Given the description of an element on the screen output the (x, y) to click on. 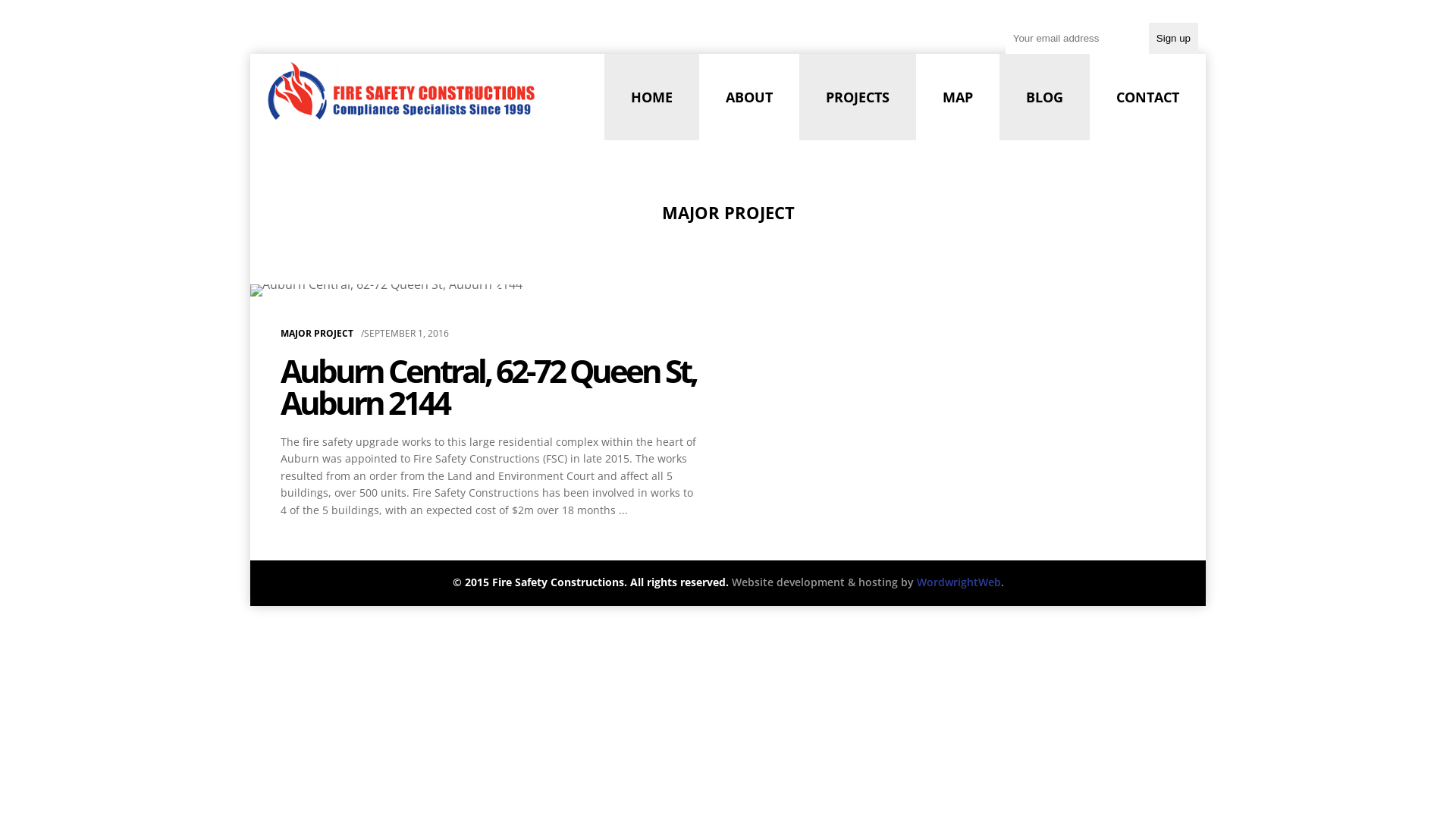
Auburn Central, 62-72 Queen St, Auburn 2144 Element type: text (488, 385)
HOME Element type: text (651, 96)
Sign up Element type: text (1173, 37)
PROJECTS Element type: text (857, 96)
CONTACT Element type: text (1147, 96)
MAP Element type: text (957, 96)
WordwrightWeb Element type: text (958, 581)
MAJOR PROJECT Element type: text (316, 332)
ABOUT Element type: text (749, 96)
BLOG Element type: text (1044, 96)
